Given the description of an element on the screen output the (x, y) to click on. 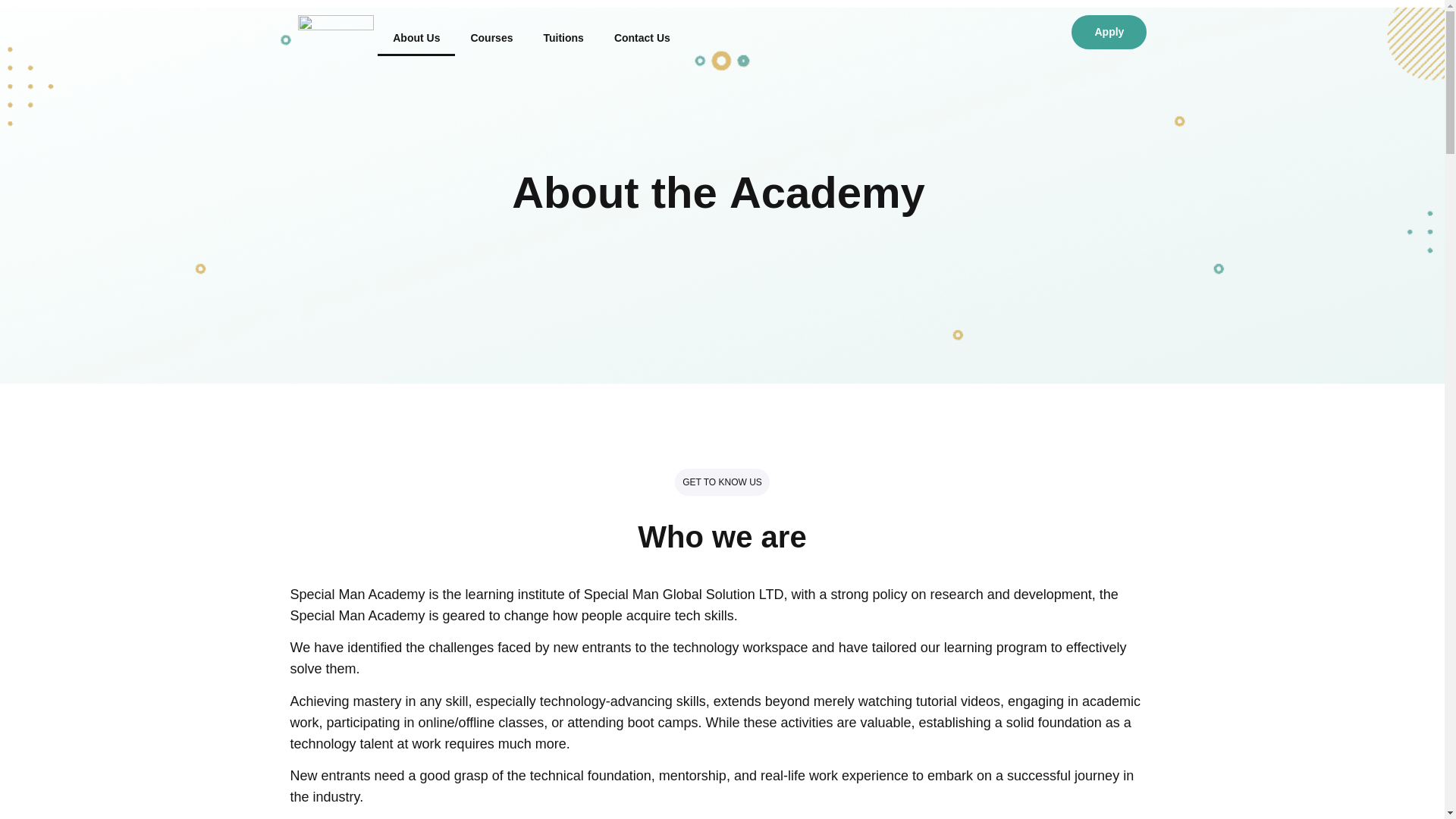
About Us (415, 37)
Apply (1109, 32)
Tuitions (562, 37)
Courses (490, 37)
Contact Us (641, 37)
